Given the description of an element on the screen output the (x, y) to click on. 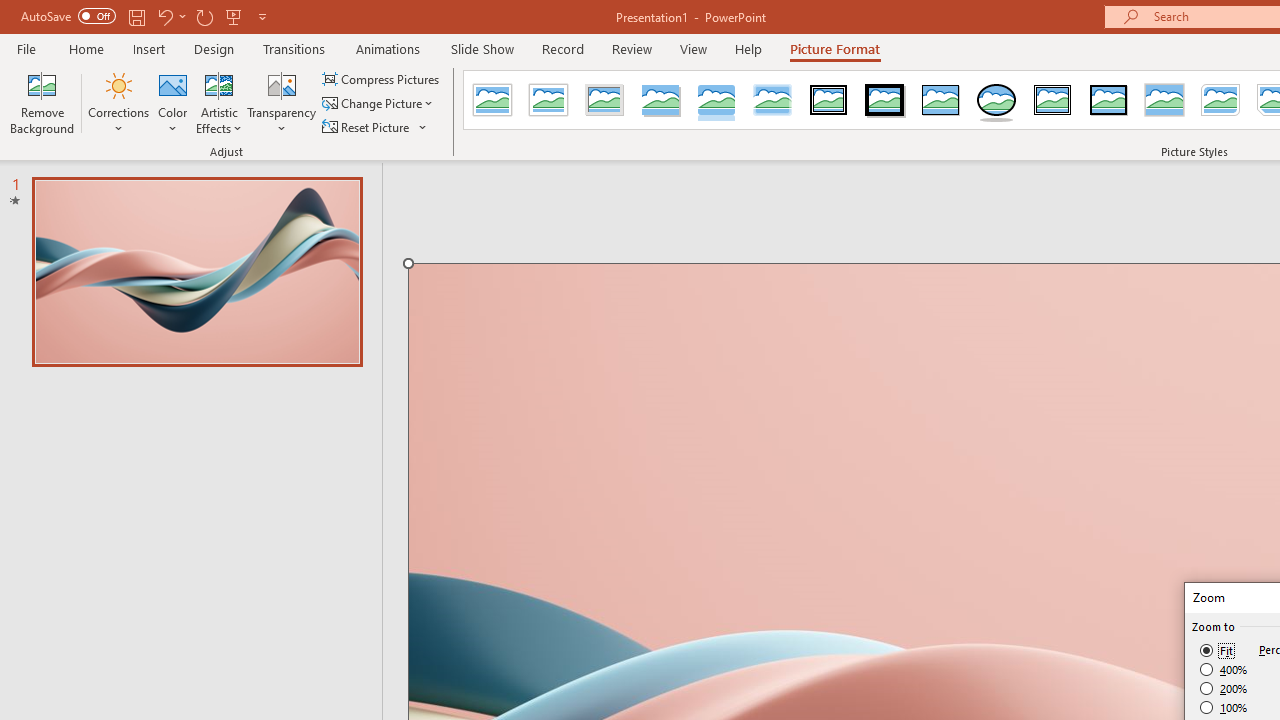
400% (1224, 669)
Beveled Matte, White (548, 100)
Center Shadow Rectangle (1164, 100)
Reset Picture (367, 126)
200% (1224, 688)
Rounded Diagonal Corner, White (1220, 100)
Fit (1217, 650)
Artistic Effects (219, 102)
Drop Shadow Rectangle (660, 100)
